Given the description of an element on the screen output the (x, y) to click on. 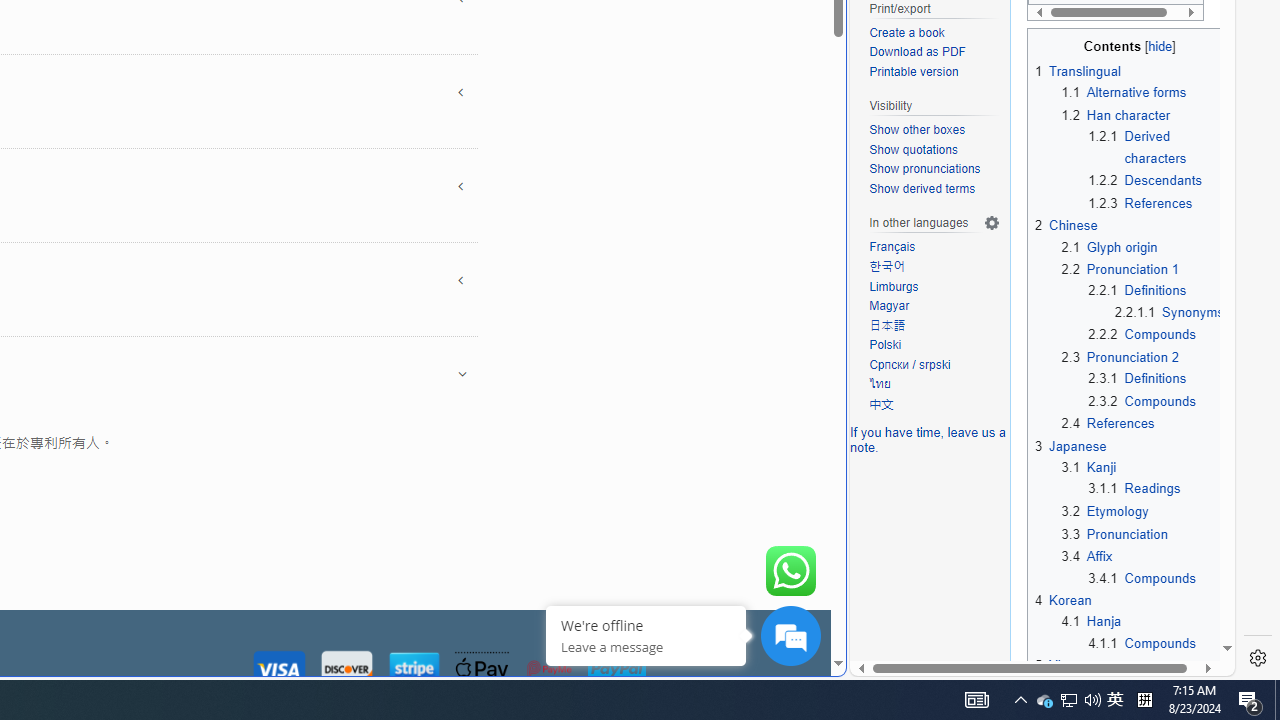
Show quotations (934, 150)
Language settings (992, 223)
Printable version (913, 71)
Show derived terms (934, 189)
hide (1041, 41)
2.1 Glyph origin (1109, 246)
2.2.2 Compounds (1142, 335)
2.3.1Definitions (1156, 378)
